Given the description of an element on the screen output the (x, y) to click on. 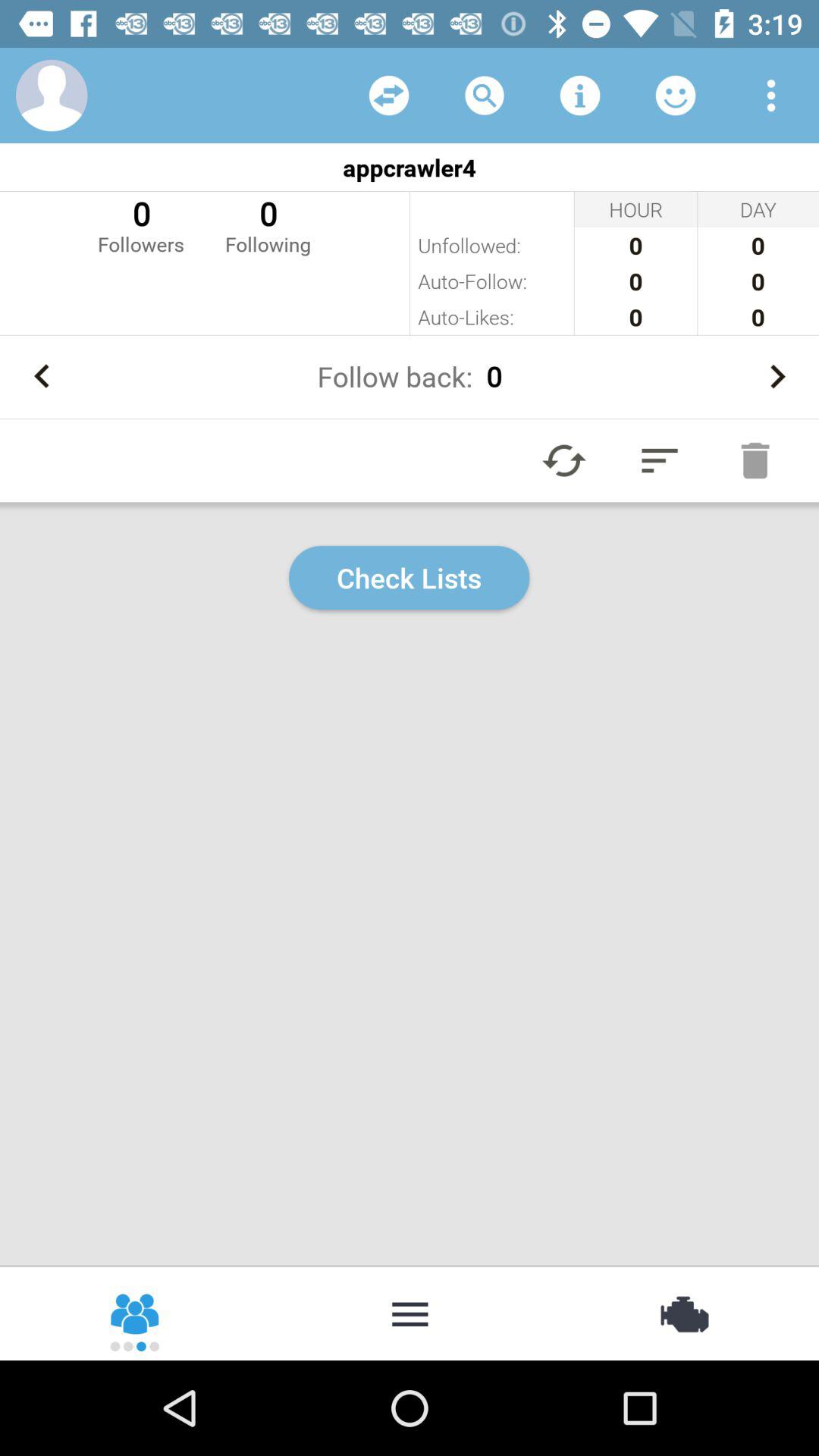
information button (579, 95)
